Given the description of an element on the screen output the (x, y) to click on. 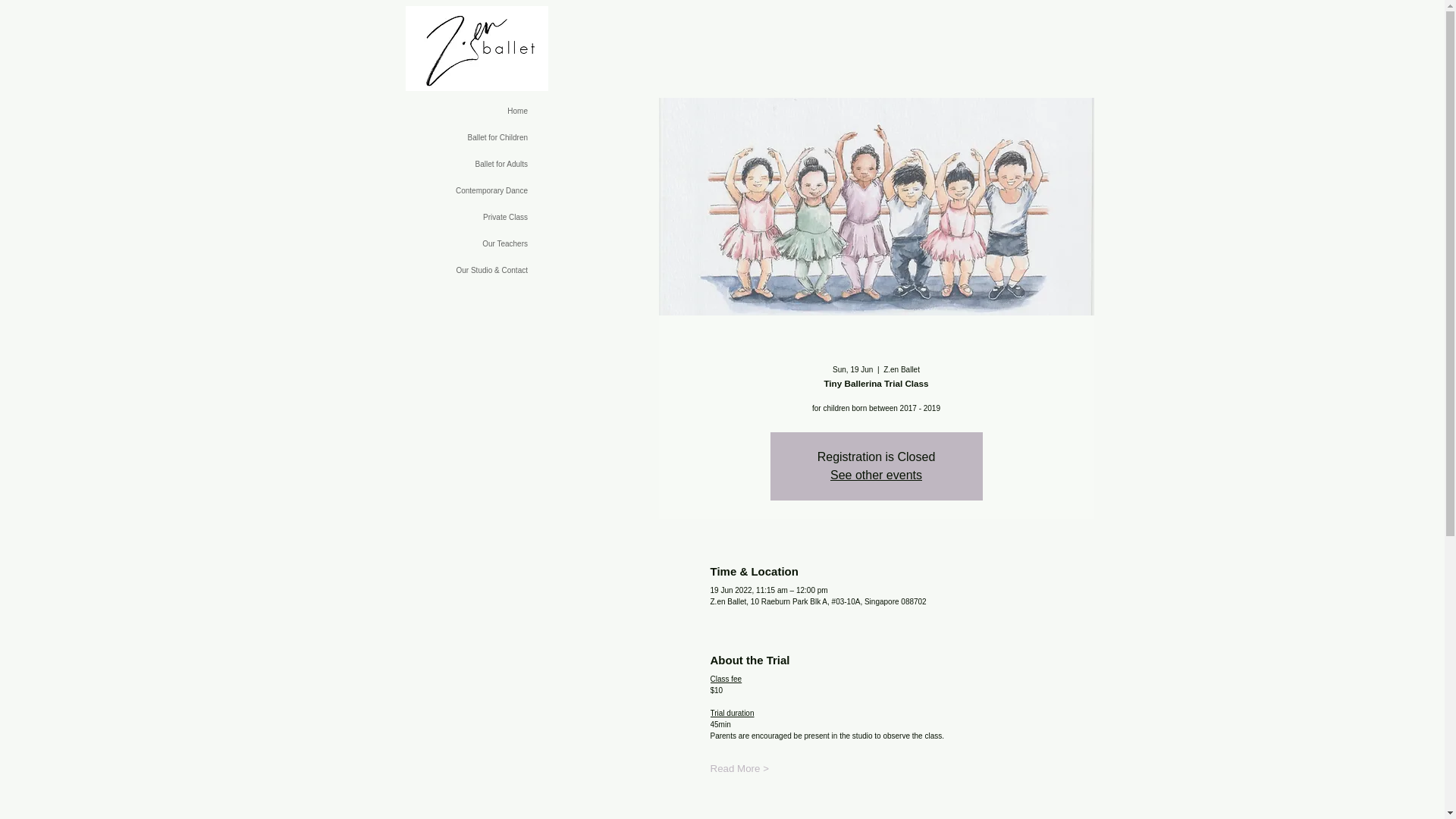
See other events (875, 474)
Our Teachers (446, 243)
Contemporary Dance (446, 190)
Map (875, 813)
Private Class (446, 216)
Ballet for Children (446, 137)
Ballet for Adults (446, 163)
Home (446, 110)
